Given the description of an element on the screen output the (x, y) to click on. 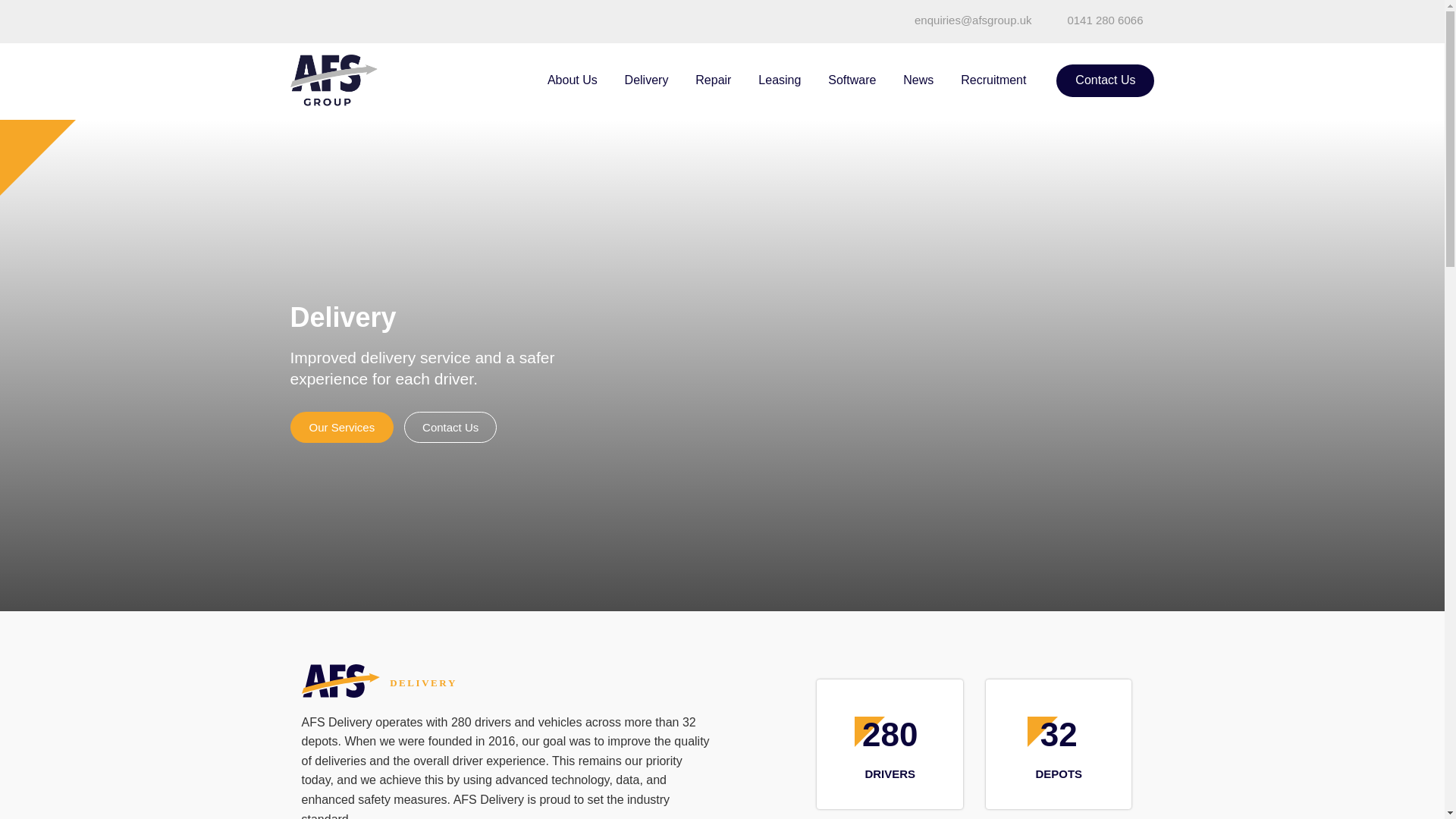
Delivery (646, 80)
About Us (572, 80)
Contact Us (1105, 80)
Leasing (778, 80)
Software (851, 80)
News (917, 80)
Recruitment (993, 80)
0141 280 6066 (1104, 19)
Contact Us (450, 427)
Repair (712, 80)
Our Services (341, 427)
